Given the description of an element on the screen output the (x, y) to click on. 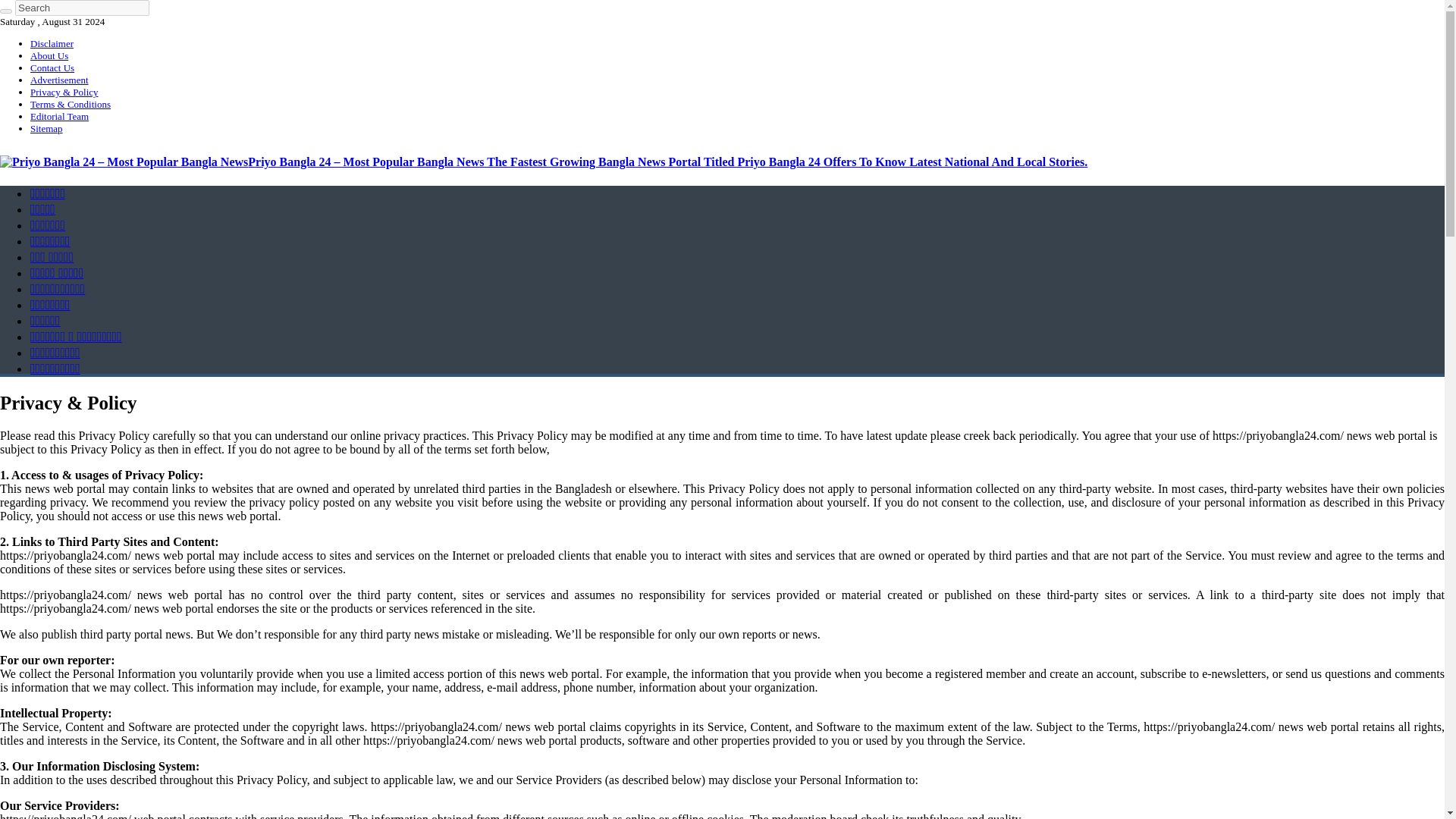
Sitemap (46, 128)
Advertisement (59, 79)
Search (5, 11)
Disclaimer (52, 43)
Search (81, 7)
About Us (49, 55)
Search (81, 7)
Editorial Team (59, 116)
Contact Us (52, 67)
